Given the description of an element on the screen output the (x, y) to click on. 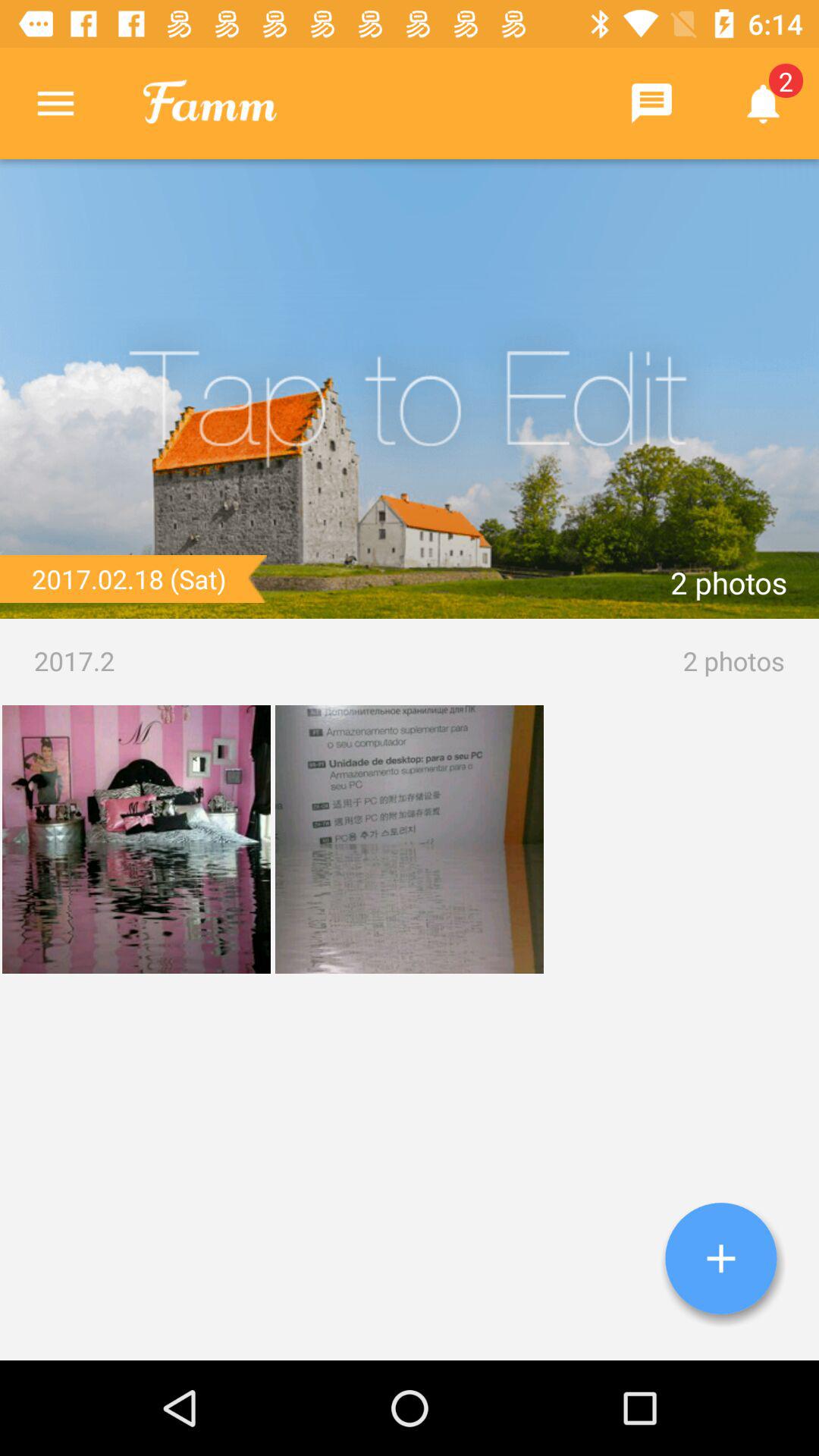
open icon above the 2017.2 item (409, 388)
